Given the description of an element on the screen output the (x, y) to click on. 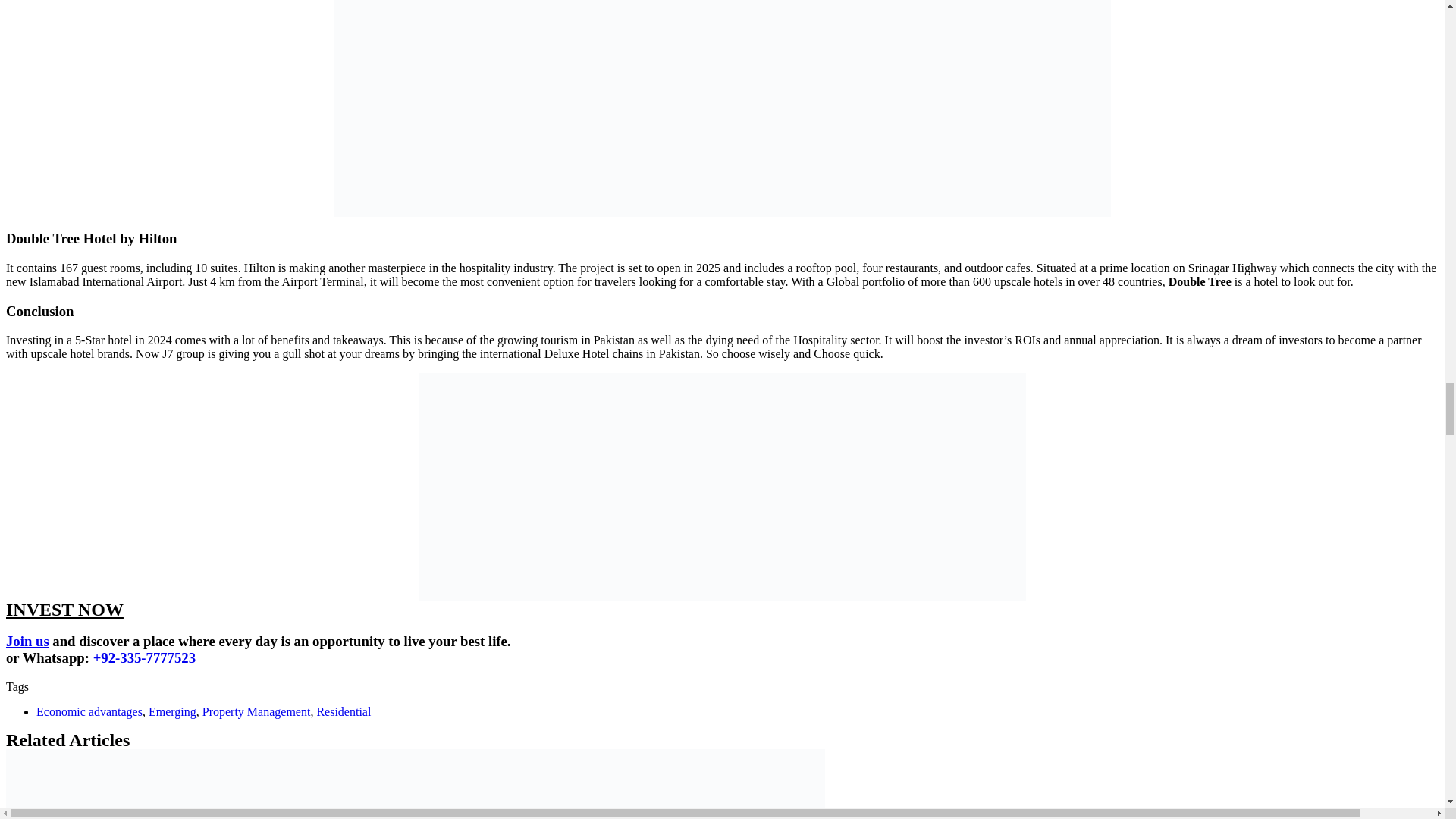
Economic advantages (89, 711)
Join us (27, 641)
INVEST NOW (64, 609)
Emerging (172, 711)
